Given the description of an element on the screen output the (x, y) to click on. 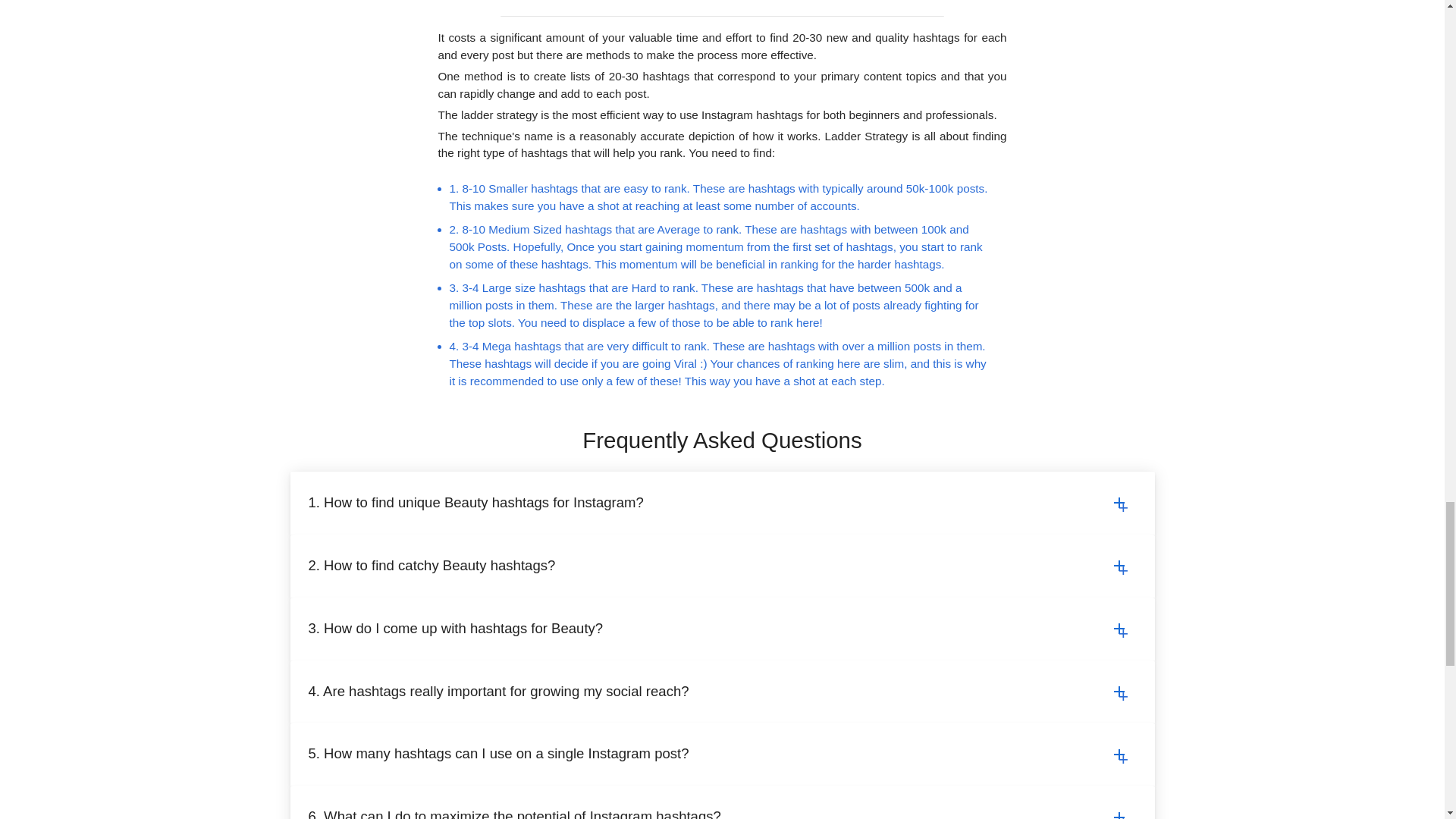
3. How do I come up with hashtags for Beauty? (721, 628)
5. How many hashtags can I use on a single Instagram post? (721, 753)
2. How to find catchy Beauty hashtags? (721, 565)
1. How to find unique Beauty hashtags for Instagram? (721, 502)
